Given the description of an element on the screen output the (x, y) to click on. 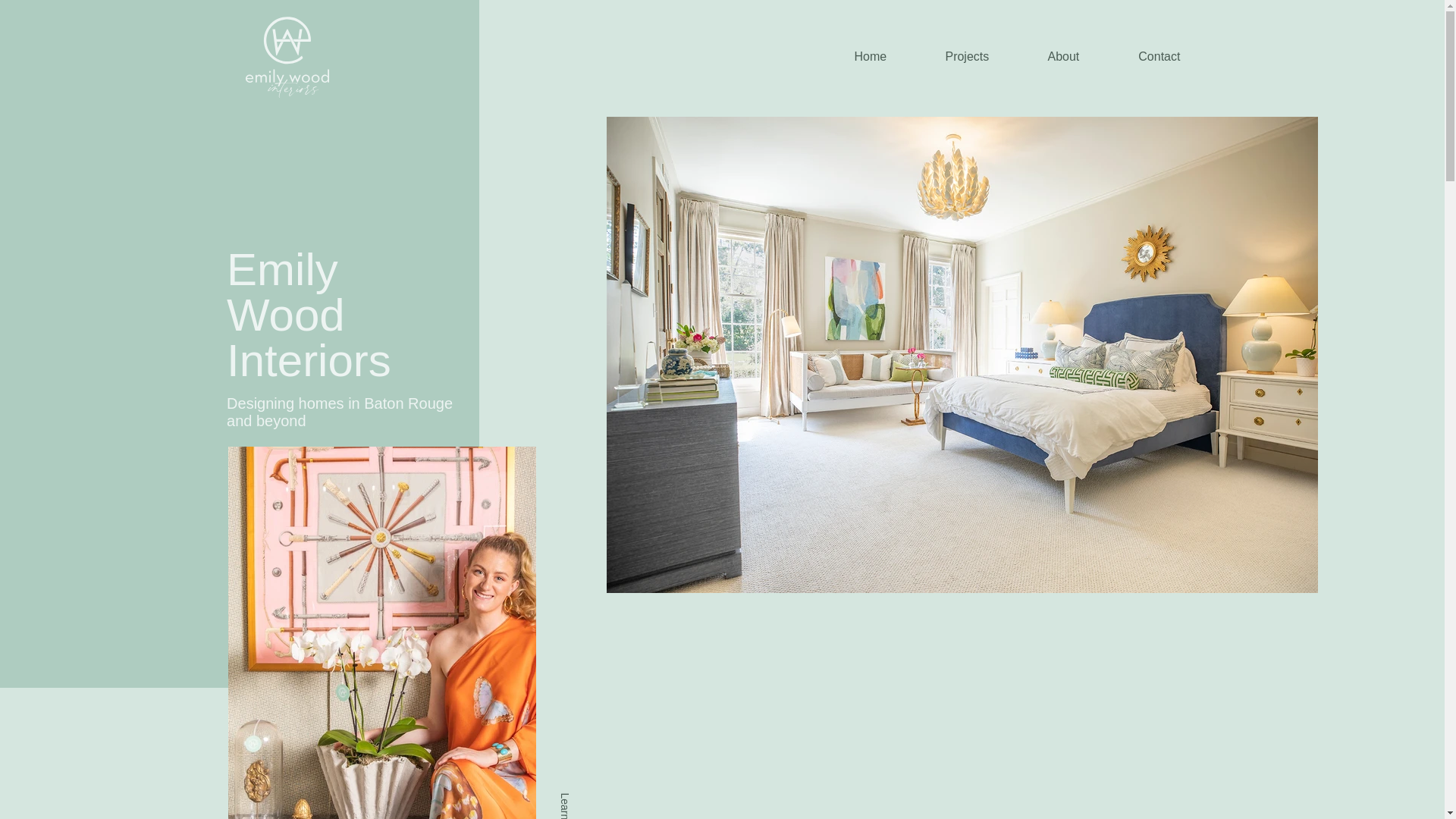
Home (870, 56)
Projects (967, 56)
About (1063, 56)
Contact (1159, 56)
